Given the description of an element on the screen output the (x, y) to click on. 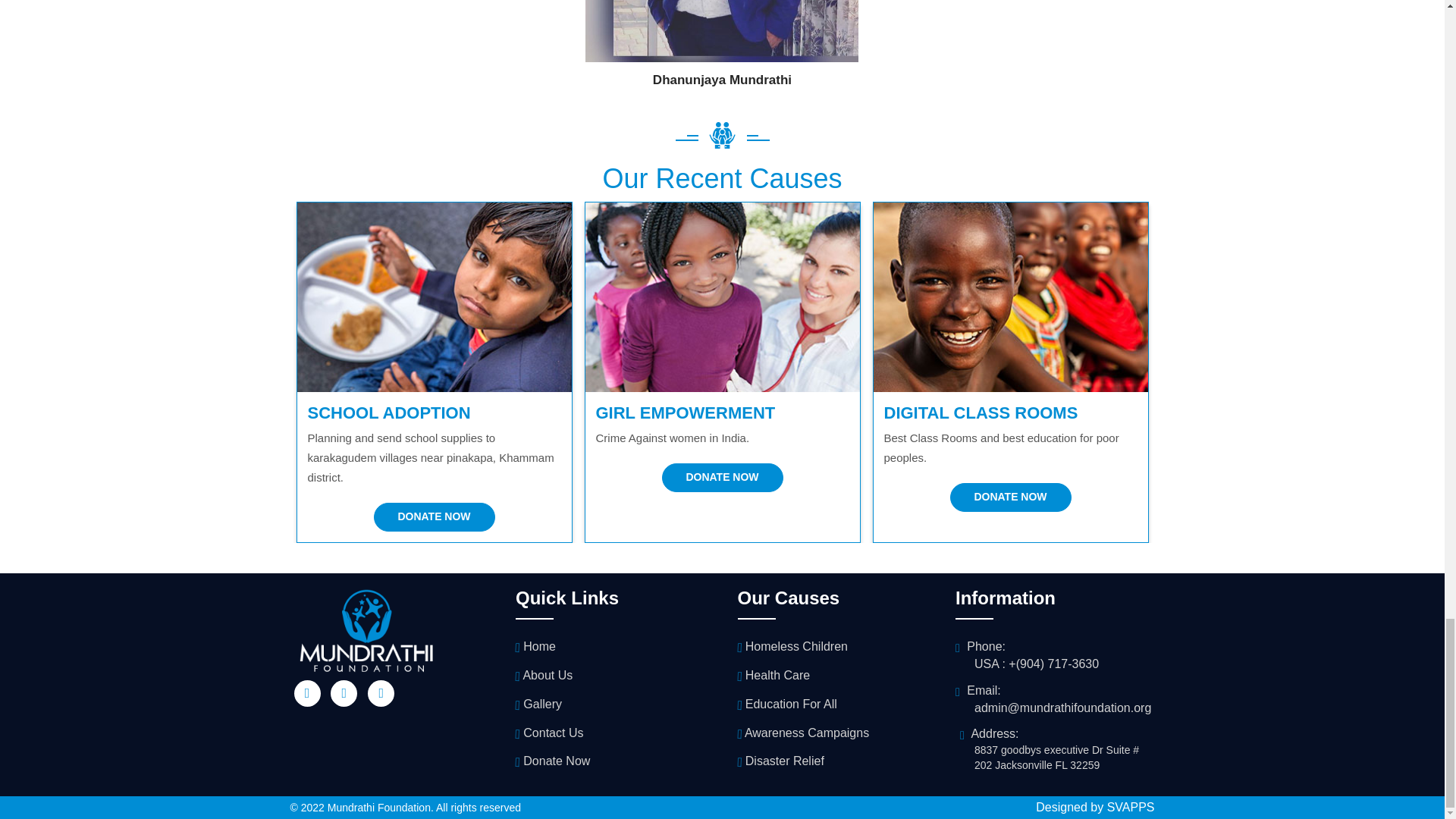
Home (535, 647)
DONATE NOW (1009, 497)
GIRL EMPOWERMENT (685, 413)
Gallery (538, 704)
DONATE NOW (433, 516)
Dhanunjaya Mundrathi (722, 80)
About Us (543, 675)
SCHOOL ADOPTION (388, 413)
DIGITAL CLASS ROOMS (980, 413)
Contact Us (549, 733)
DONATE NOW (722, 477)
